Given the description of an element on the screen output the (x, y) to click on. 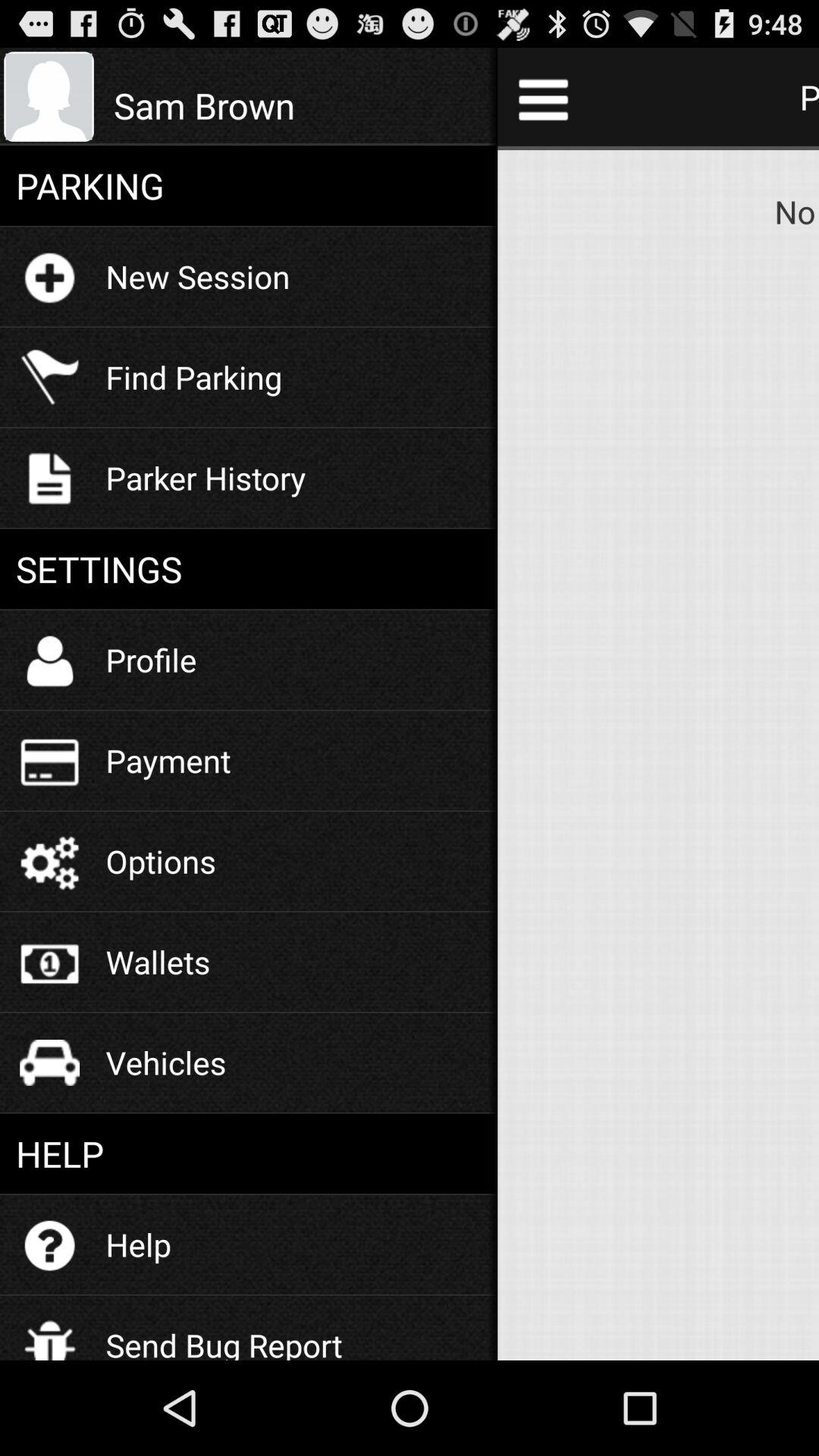
tap the icon above the wallets item (160, 860)
